Given the description of an element on the screen output the (x, y) to click on. 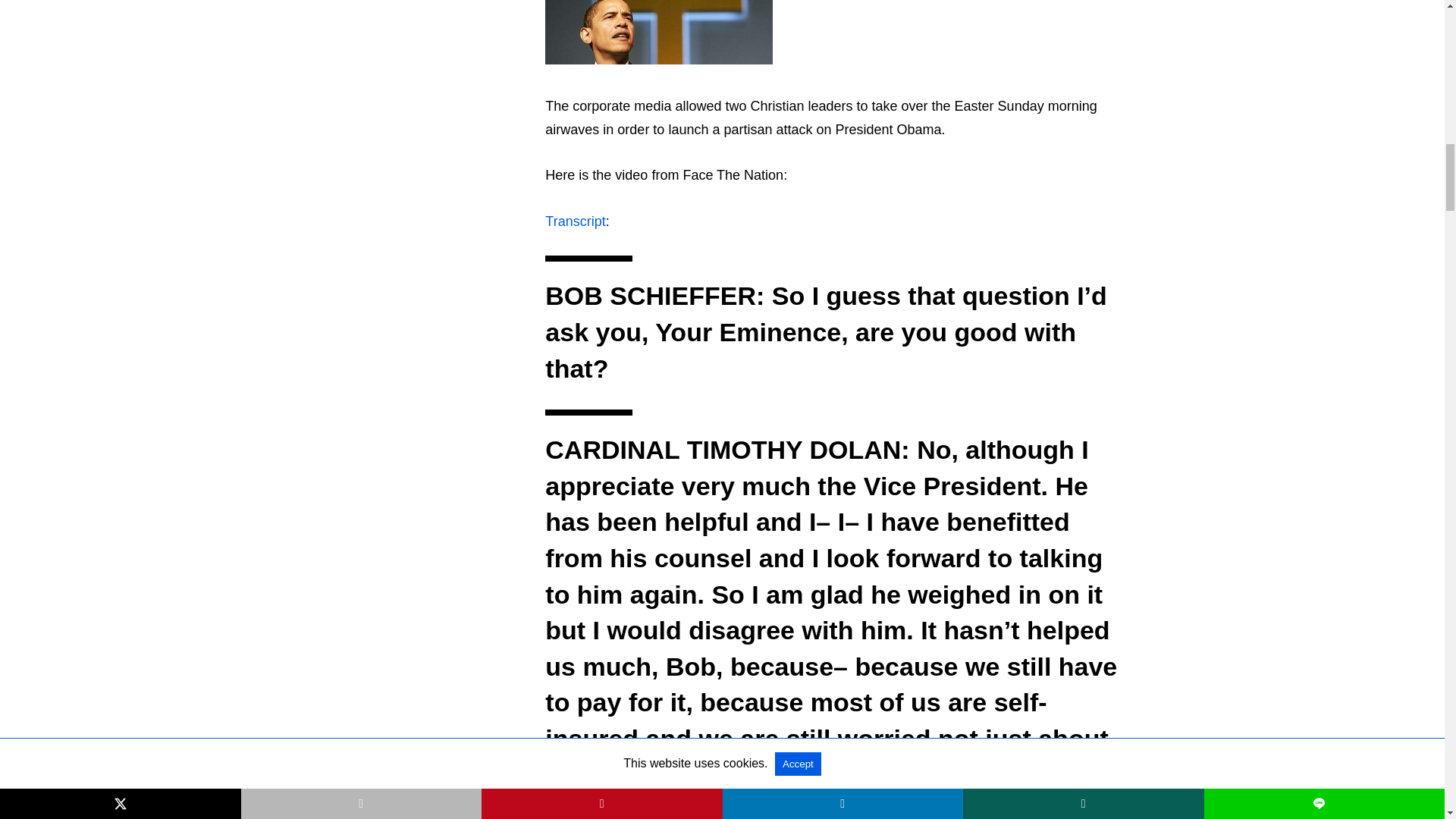
Transcript (574, 221)
